Given the description of an element on the screen output the (x, y) to click on. 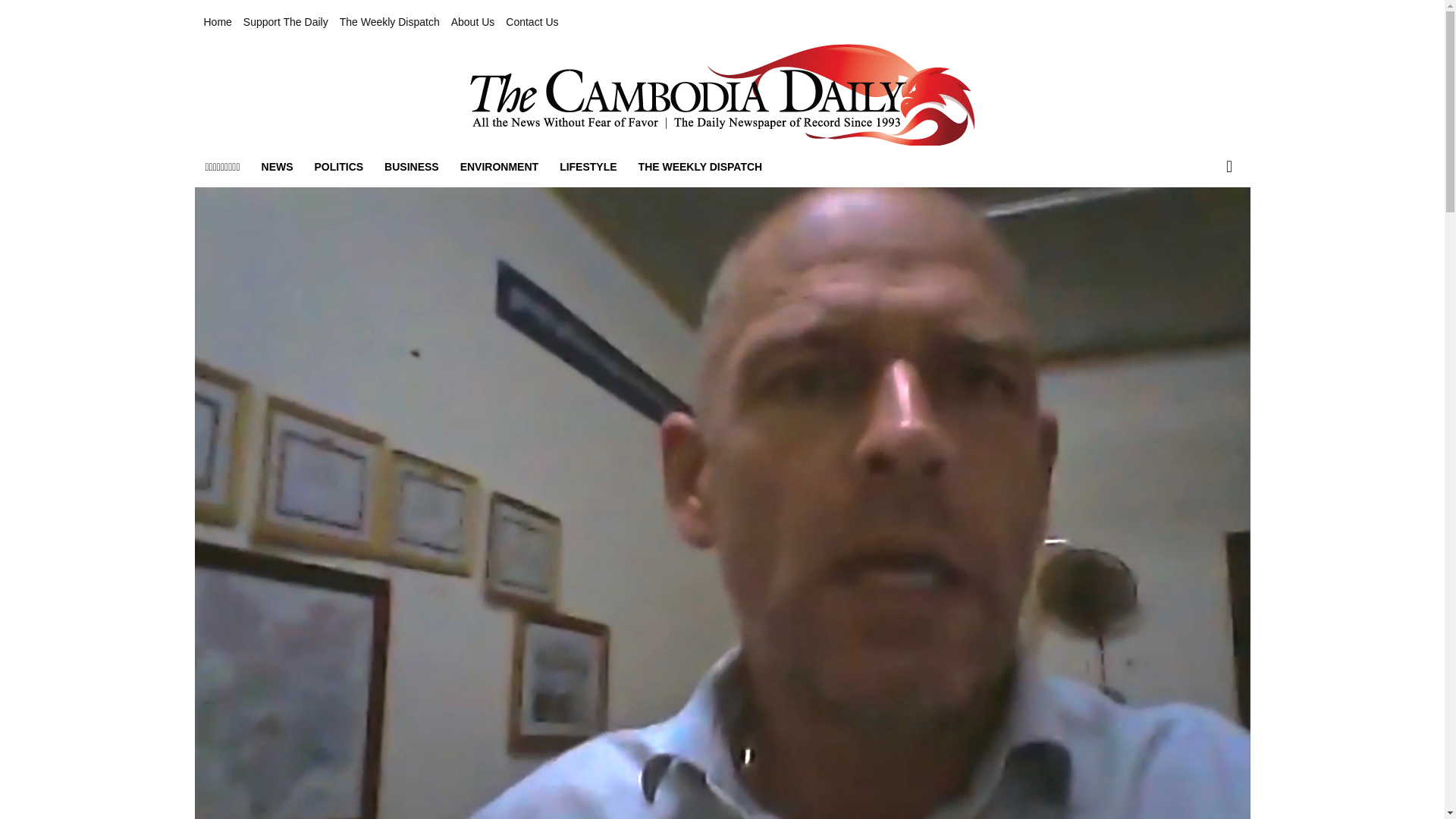
The Weekly Dispatch (389, 21)
All the news without fear or favor (721, 94)
POLITICS (339, 166)
ENVIRONMENT (498, 166)
Home (217, 21)
All the news without fear or favor (722, 94)
BUSINESS (411, 166)
Contact Us (531, 21)
Support The Daily (286, 21)
LIFESTYLE (587, 166)
